Given the description of an element on the screen output the (x, y) to click on. 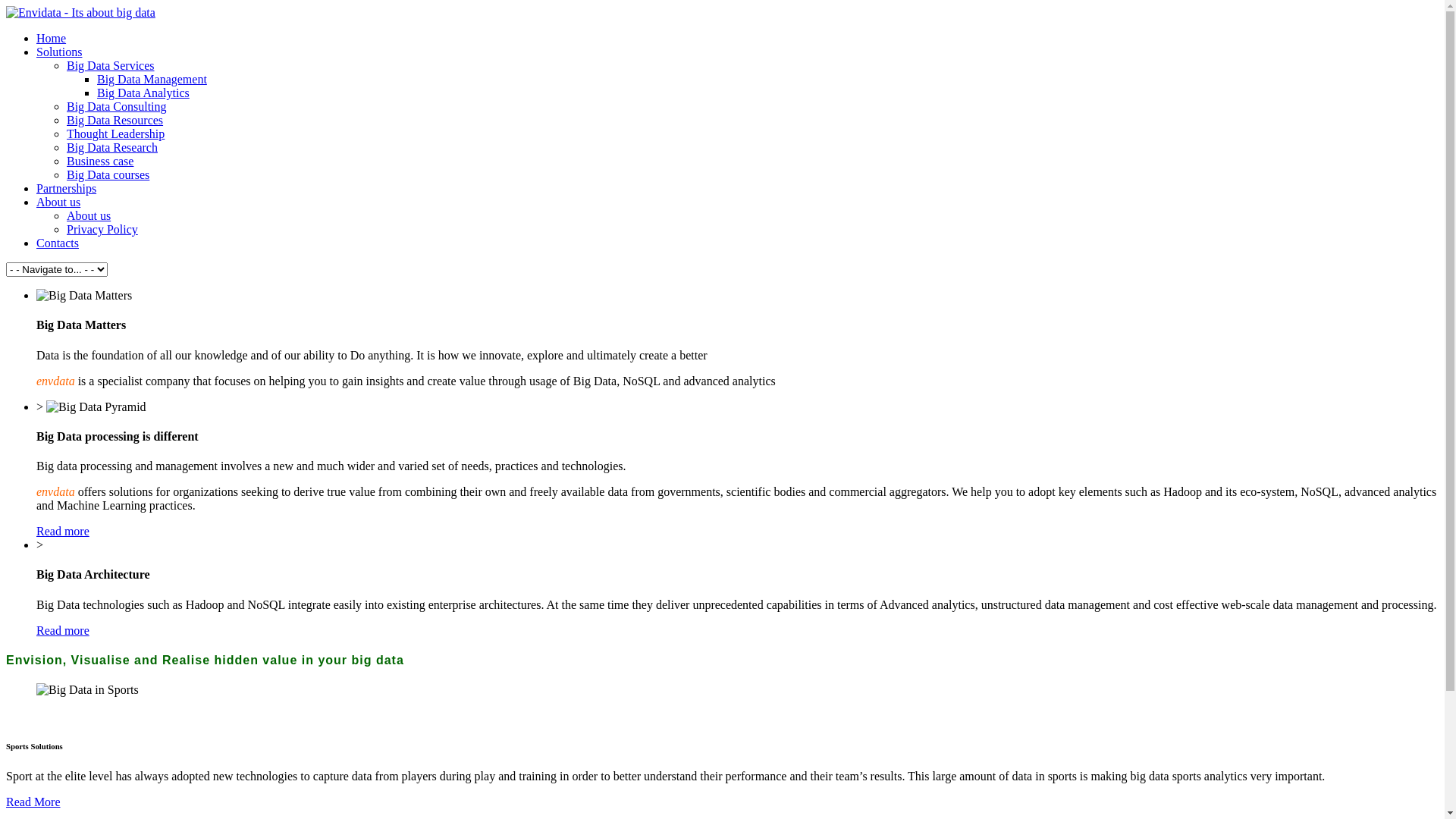
About us Element type: text (88, 215)
Big Data Analytics Element type: text (143, 92)
Big Data courses Element type: text (107, 174)
Solutions Element type: text (58, 51)
Home Element type: text (50, 37)
Contacts Element type: text (57, 242)
Thought Leadership Element type: text (115, 133)
Partnerships Element type: text (66, 188)
Privacy Policy Element type: text (102, 228)
Big Data Consulting Element type: text (116, 106)
Read more Element type: text (62, 630)
Big Data Resources Element type: text (114, 119)
Big Data Management Element type: text (152, 78)
Business case Element type: text (99, 160)
Read More Element type: text (33, 801)
Read more Element type: text (62, 530)
Big Data Research Element type: text (111, 147)
Big Data Services Element type: text (110, 65)
About us Element type: text (58, 201)
